Given the description of an element on the screen output the (x, y) to click on. 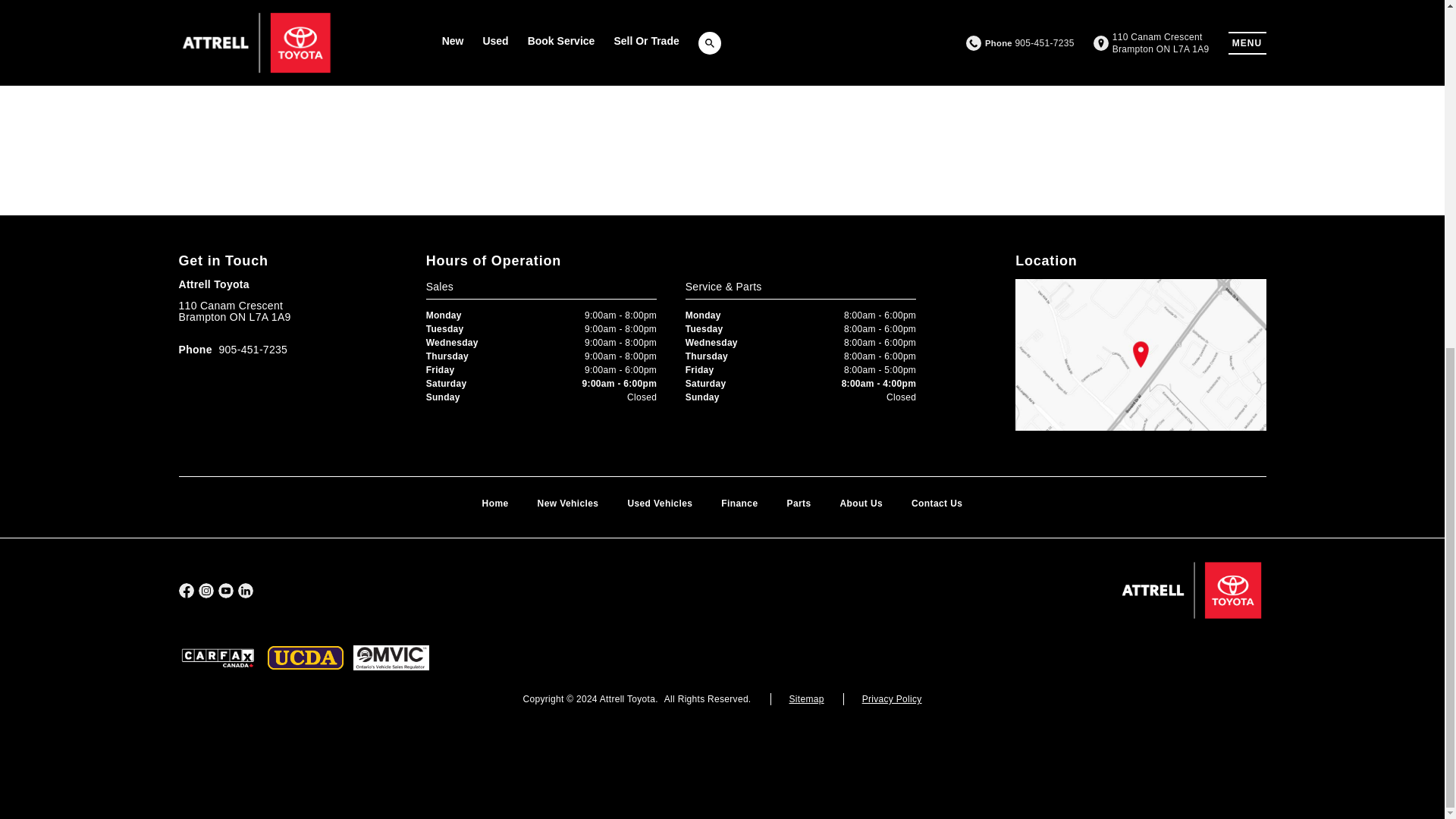
Call 905-451-7235 (233, 349)
Privacy Policy (891, 698)
Sitemap (806, 698)
Location Image Map (1139, 354)
Powered by EDealer (721, 750)
